Given the description of an element on the screen output the (x, y) to click on. 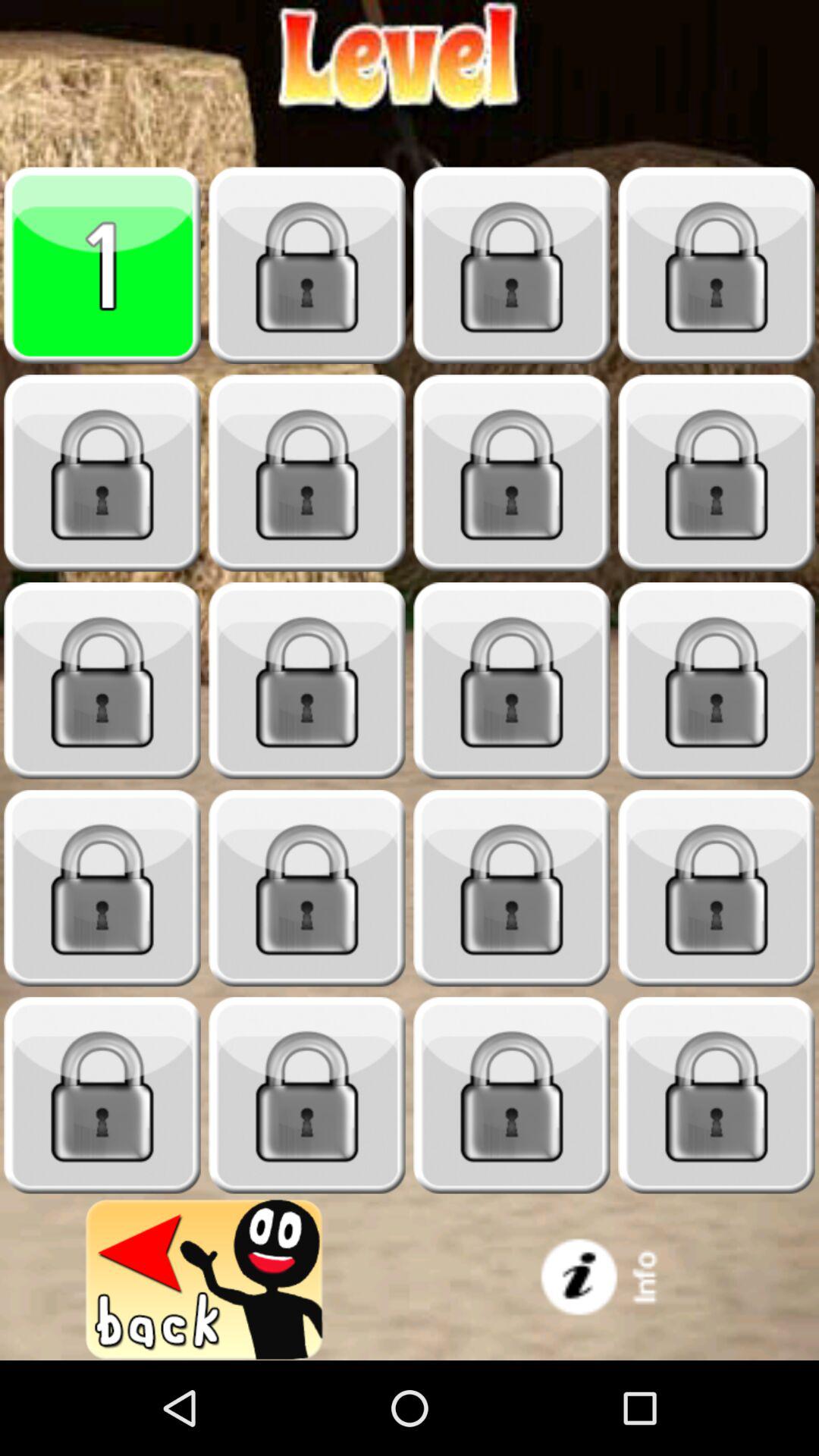
game level of the stage (511, 680)
